Given the description of an element on the screen output the (x, y) to click on. 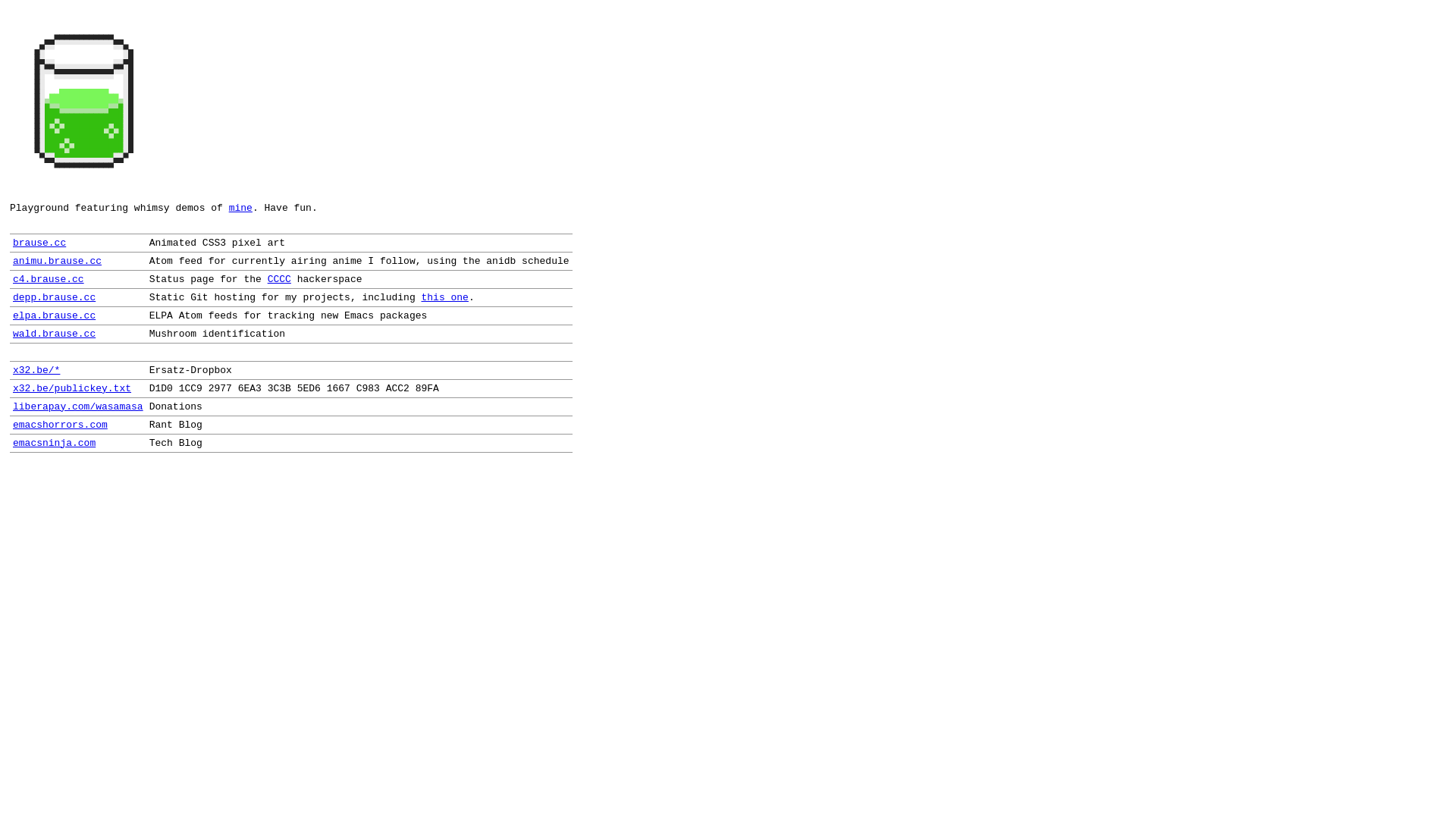
x32.be/* Element type: text (35, 369)
mine Element type: text (240, 207)
wald.brause.cc Element type: text (53, 332)
brause.cc Element type: text (38, 241)
c4.brause.cc Element type: text (48, 278)
x32.be/publickey.txt Element type: text (71, 387)
emacsninja.com Element type: text (53, 442)
depp.brause.cc Element type: text (53, 296)
CCCC Element type: text (279, 278)
emacshorrors.com Element type: text (59, 423)
animu.brause.cc Element type: text (56, 260)
elpa.brause.cc Element type: text (53, 314)
this one Element type: text (444, 296)
liberapay.com/wasamasa Element type: text (77, 405)
